Given the description of an element on the screen output the (x, y) to click on. 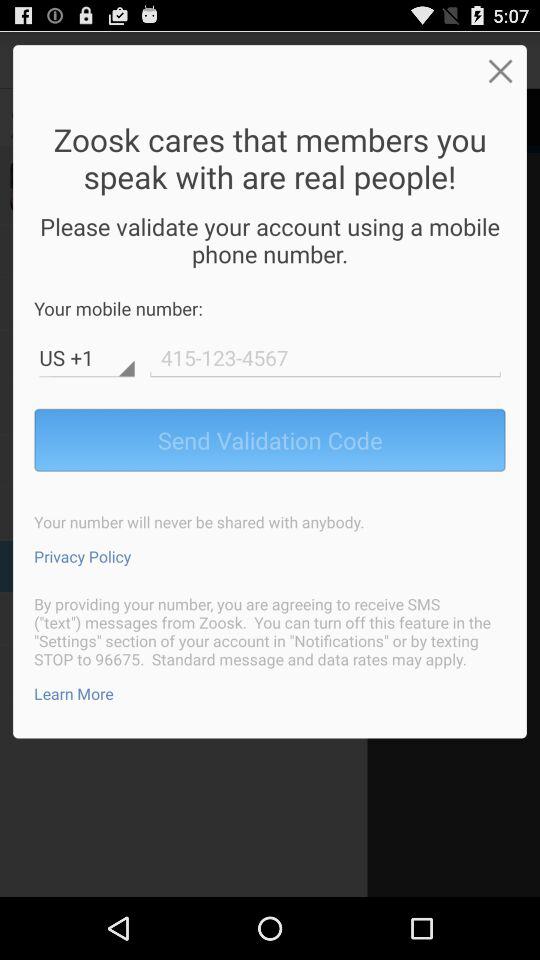
mobile number (325, 357)
